Given the description of an element on the screen output the (x, y) to click on. 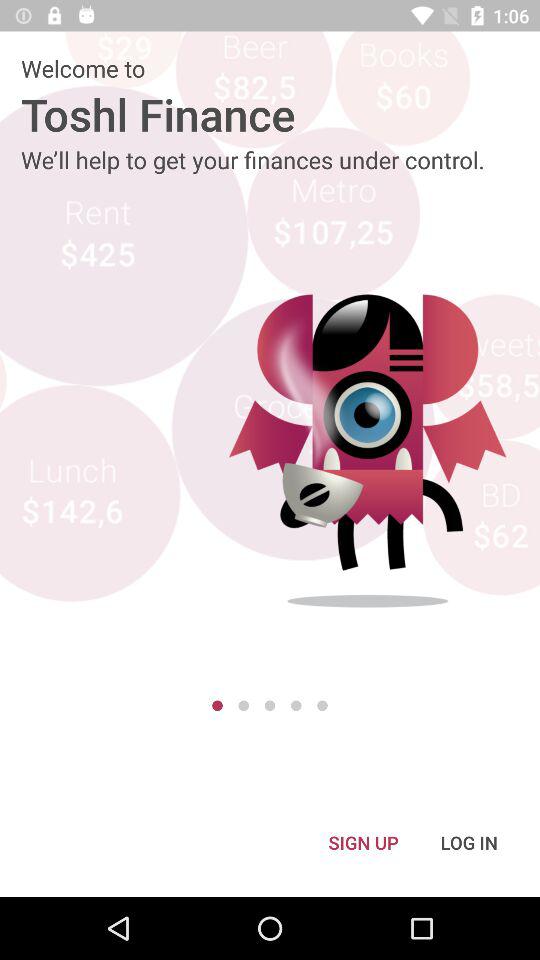
turn on the icon to the left of the log in item (363, 842)
